Given the description of an element on the screen output the (x, y) to click on. 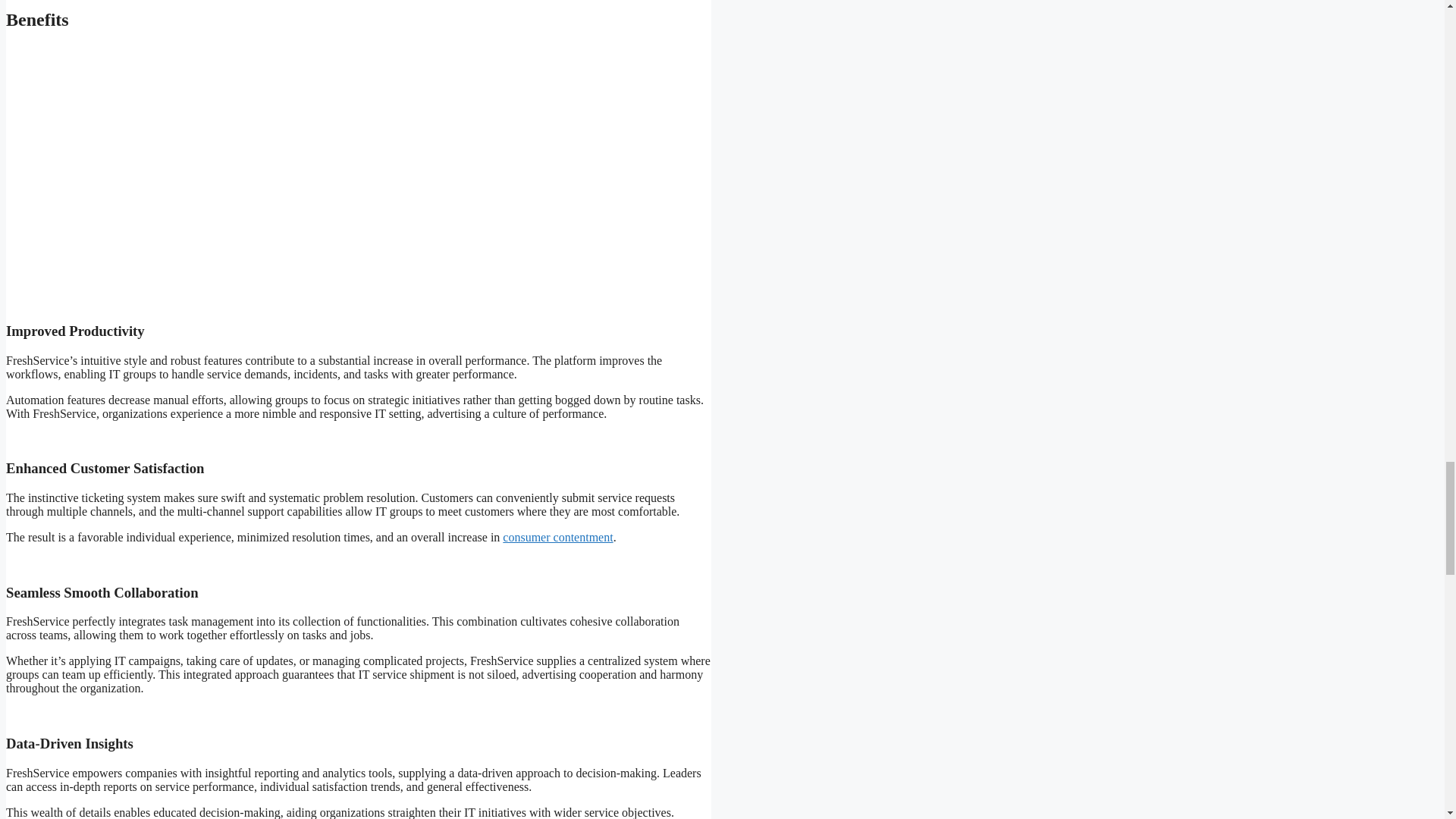
consumer contentment (557, 536)
